Given the description of an element on the screen output the (x, y) to click on. 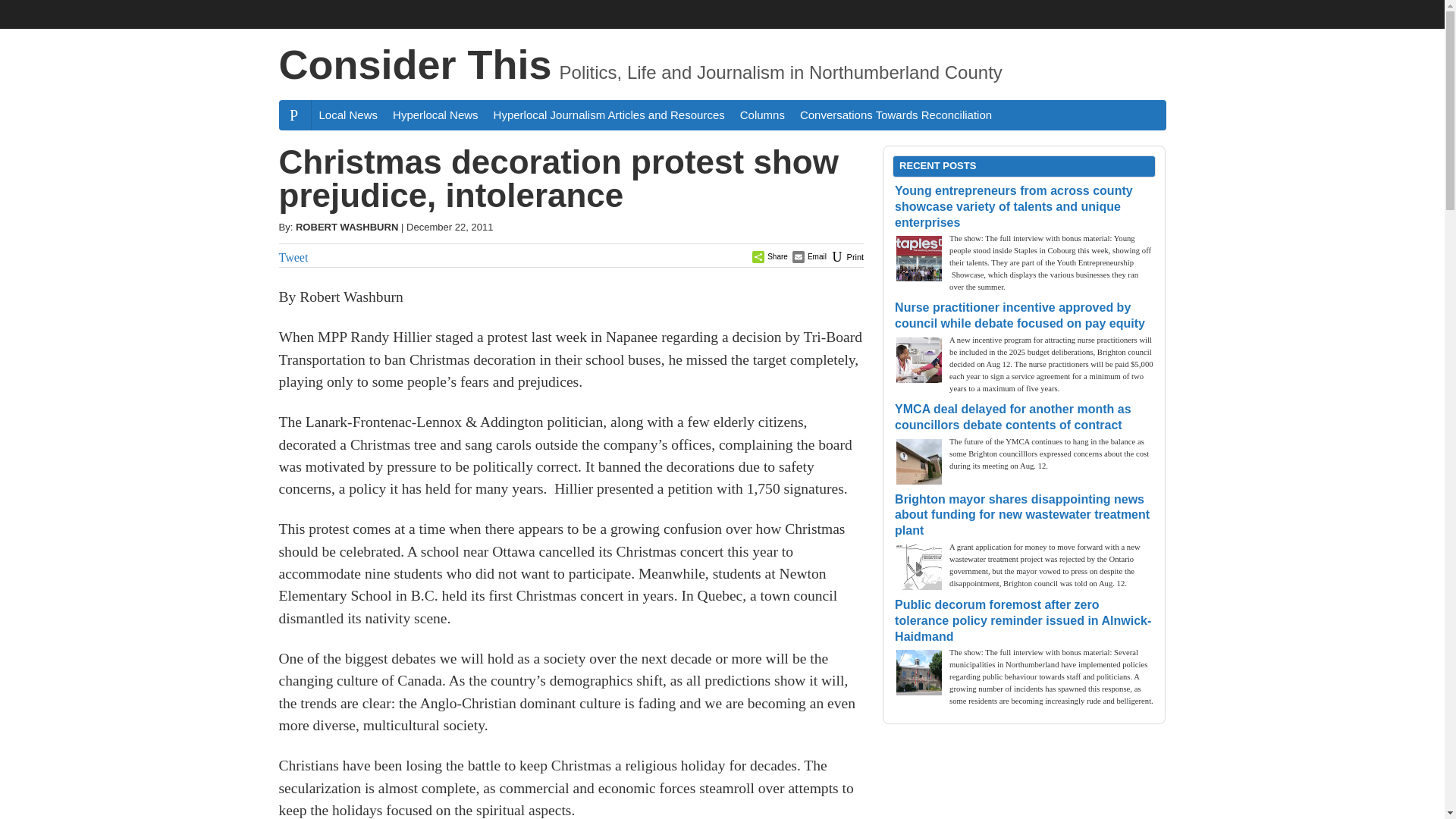
ROBERT WASHBURN (346, 226)
Conversations Towards Reconciliation (895, 114)
More from Robert Washburn (346, 226)
Print (845, 256)
print this article (845, 256)
Tweet (293, 256)
Hyperlocal Journalism Articles and Resources (609, 114)
Local News (348, 114)
Hyperlocal News (435, 114)
